Given the description of an element on the screen output the (x, y) to click on. 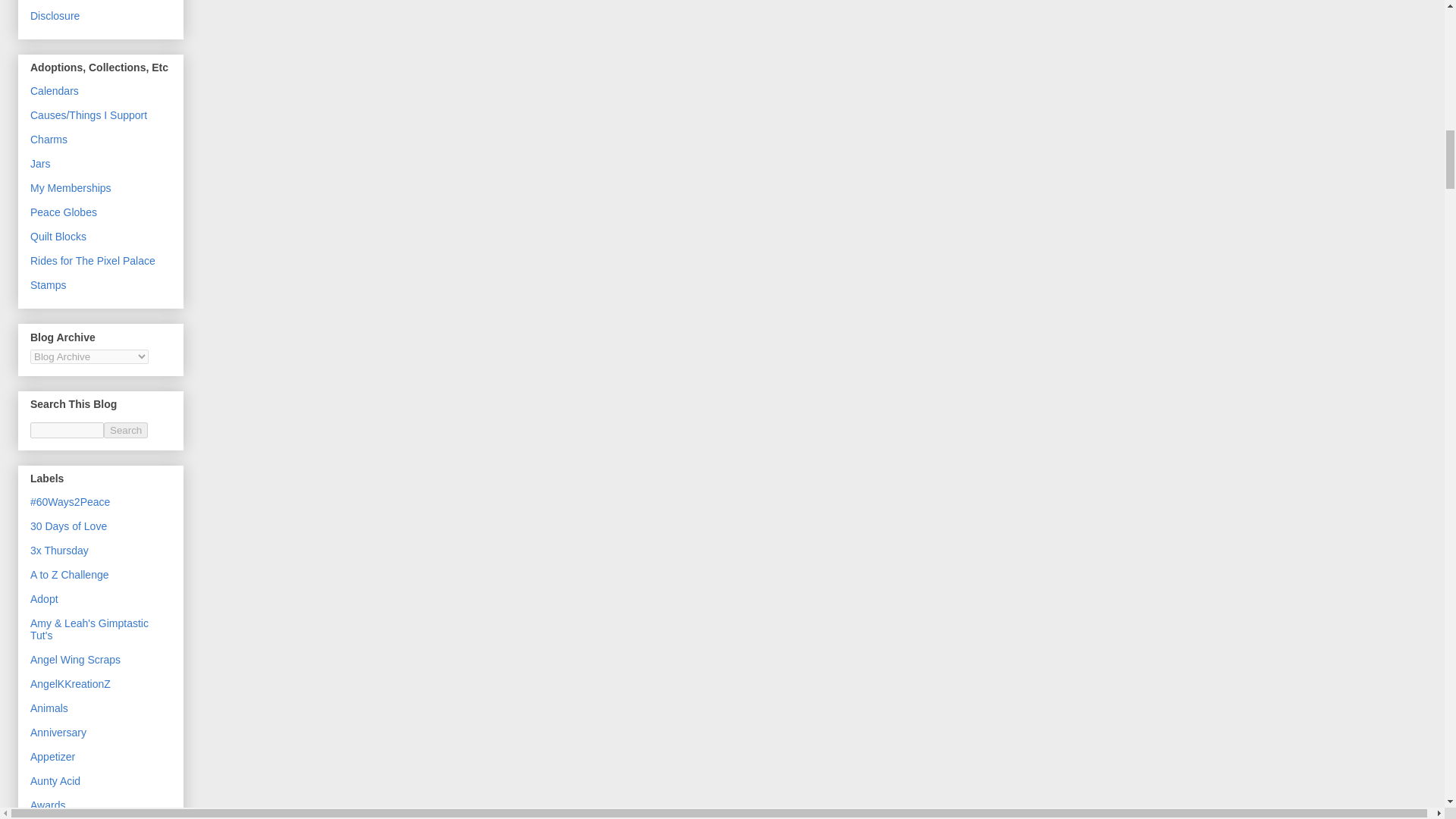
search (125, 430)
Search (125, 430)
Search (125, 430)
search (66, 430)
